Given the description of an element on the screen output the (x, y) to click on. 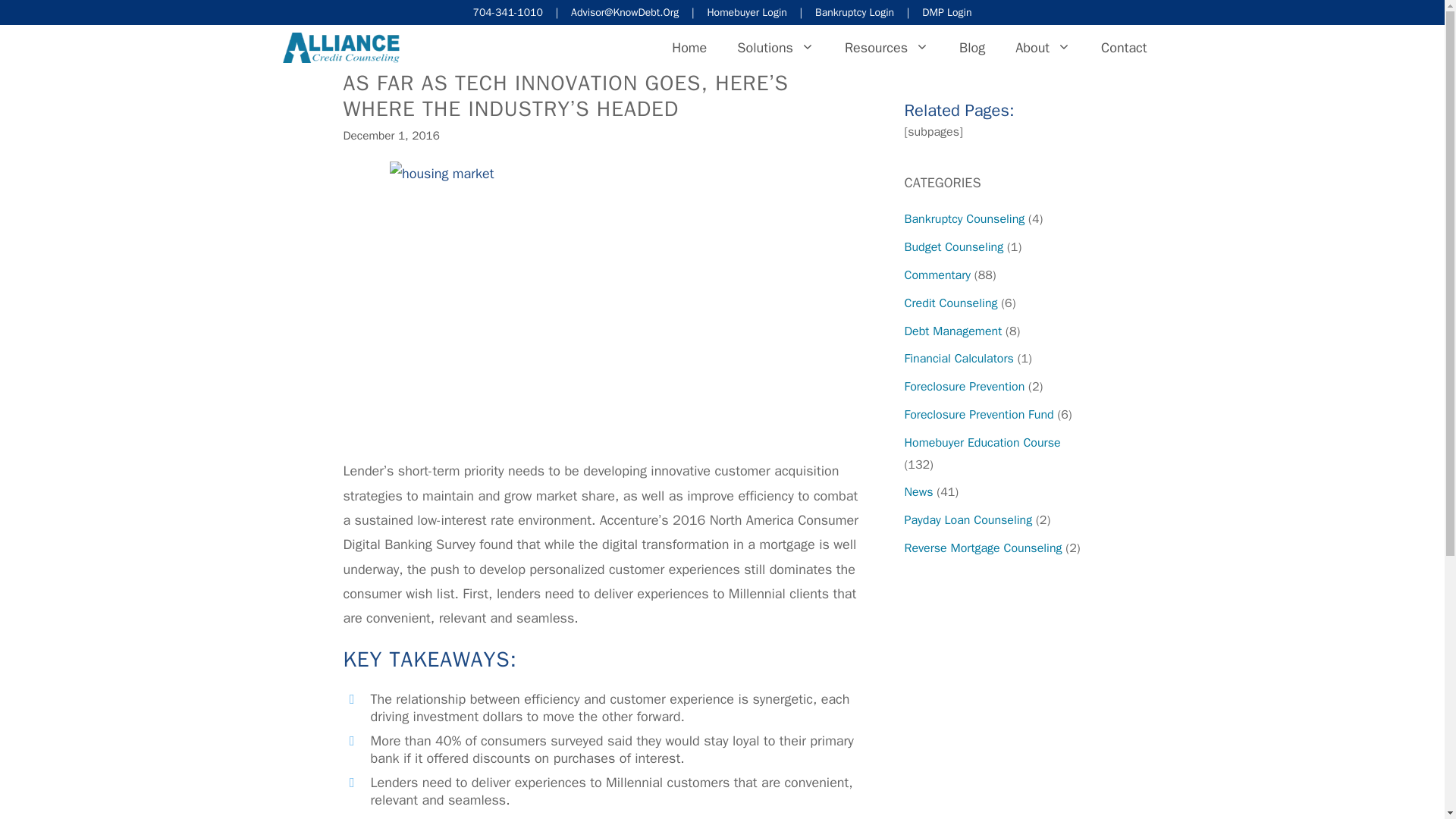
704-341-1010 (508, 11)
DMP Login (946, 11)
Bankruptcy Login (854, 11)
Homebuyer Login (746, 11)
Alliance Credit Counseling (340, 47)
